Given the description of an element on the screen output the (x, y) to click on. 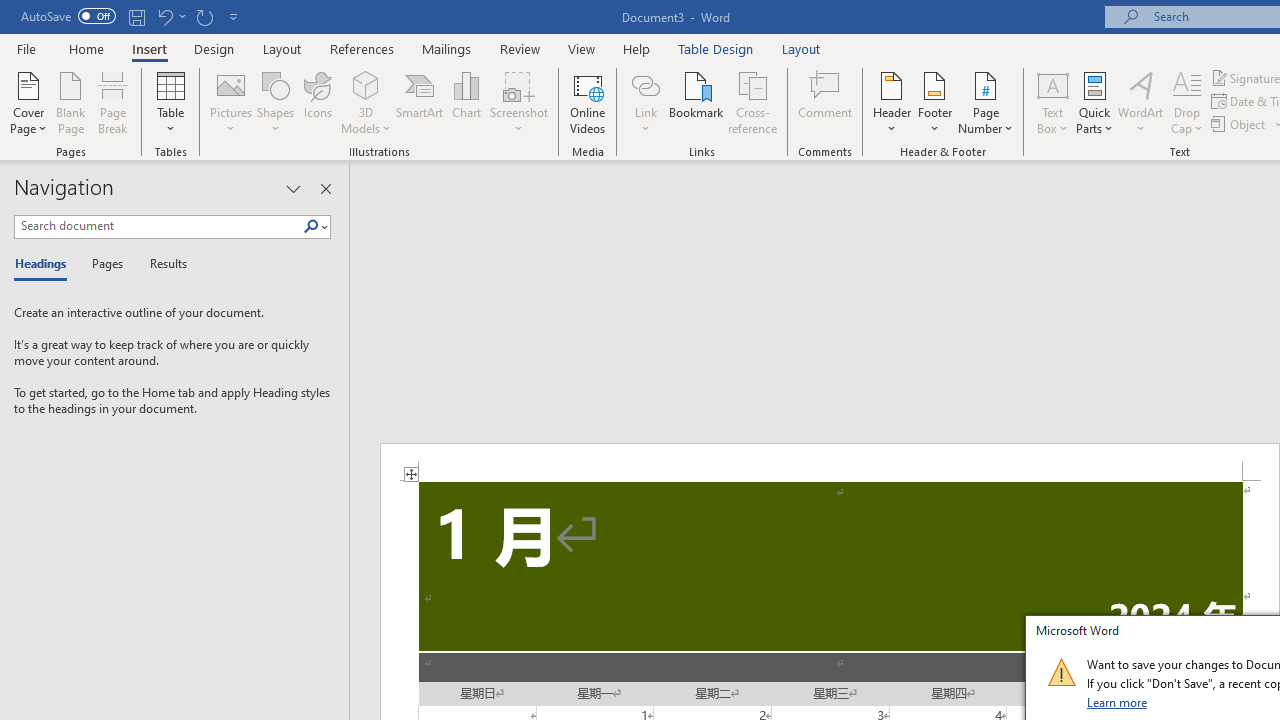
Help (637, 48)
Shapes (275, 102)
Pages (105, 264)
Headings (45, 264)
Layout (801, 48)
Table (170, 102)
Quick Parts (1094, 102)
Blank Page (70, 102)
More Options (645, 121)
Header (891, 102)
Learn more (1118, 702)
Class: NetUIImage (1061, 671)
